Given the description of an element on the screen output the (x, y) to click on. 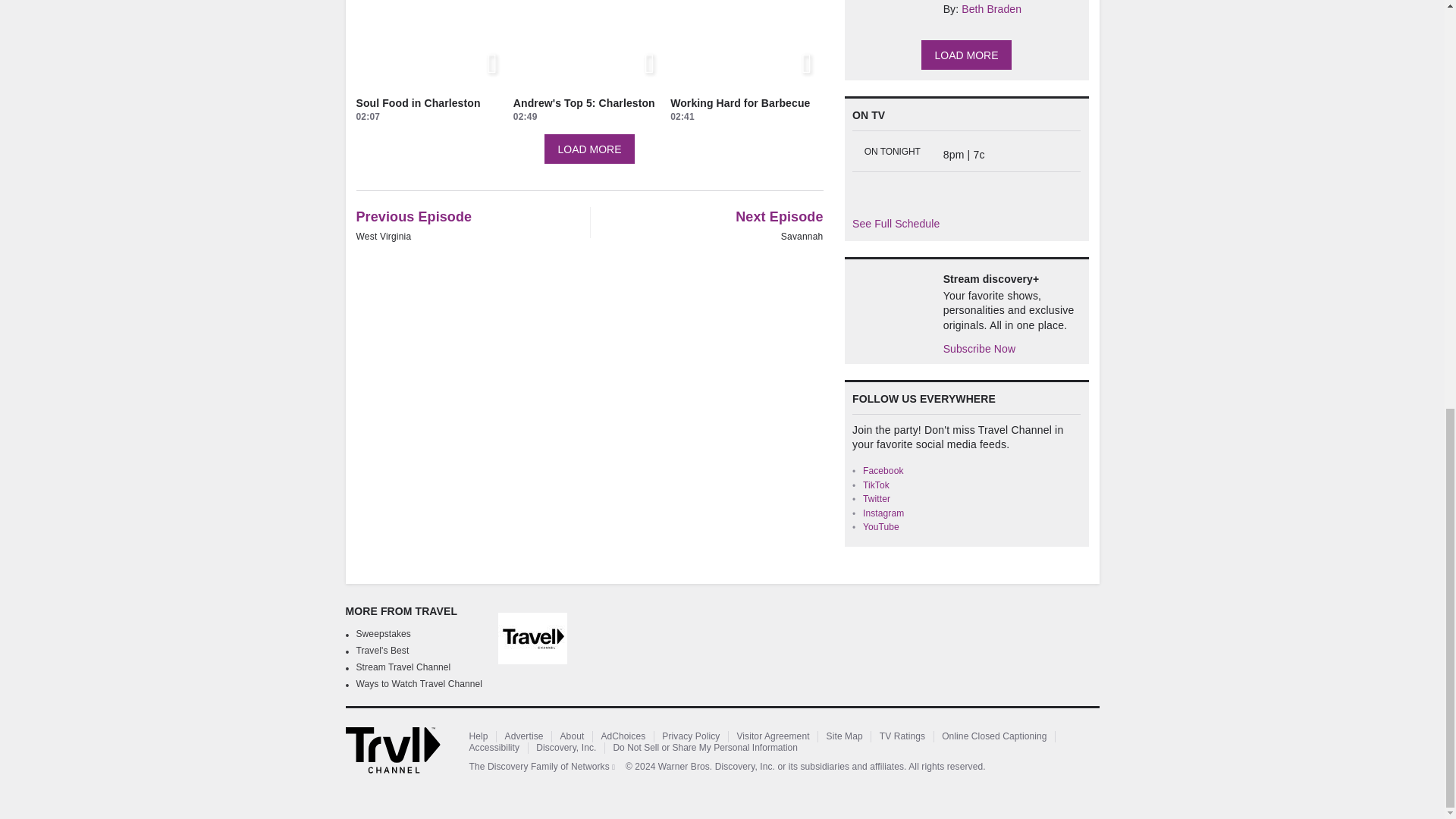
Stream Travel Channel (403, 666)
Ways to Watch Travel Channel (419, 683)
Travel's Best (382, 650)
Sweepstakes (383, 633)
